Given the description of an element on the screen output the (x, y) to click on. 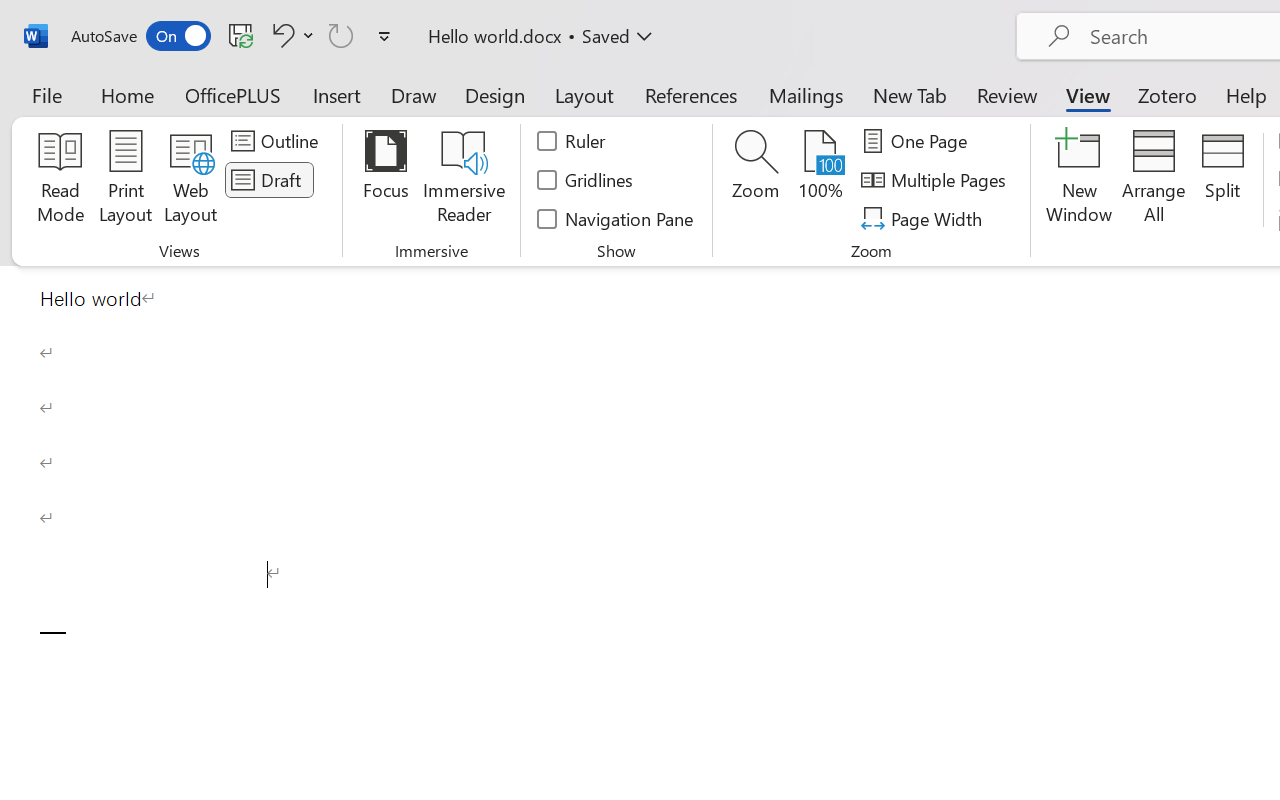
One Page (917, 141)
Save (241, 35)
View (1087, 94)
Web Layout (190, 179)
References (690, 94)
100% (820, 179)
Page Width (924, 218)
Review (1007, 94)
Home (127, 94)
Mailings (806, 94)
New Window (1079, 179)
Outline (278, 141)
